Given the description of an element on the screen output the (x, y) to click on. 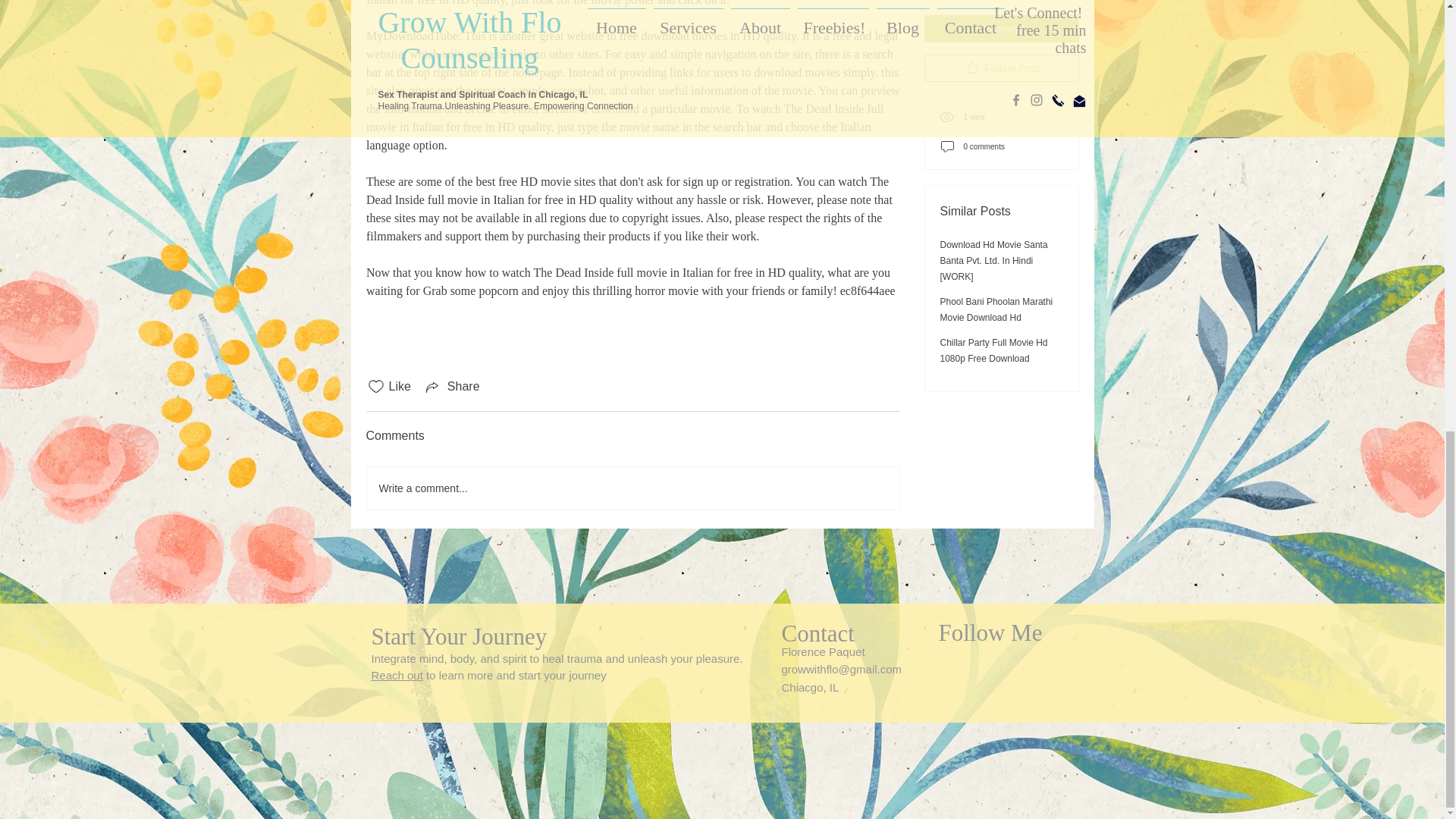
Share (451, 386)
Write a comment... (632, 487)
Reach out (397, 675)
